Given the description of an element on the screen output the (x, y) to click on. 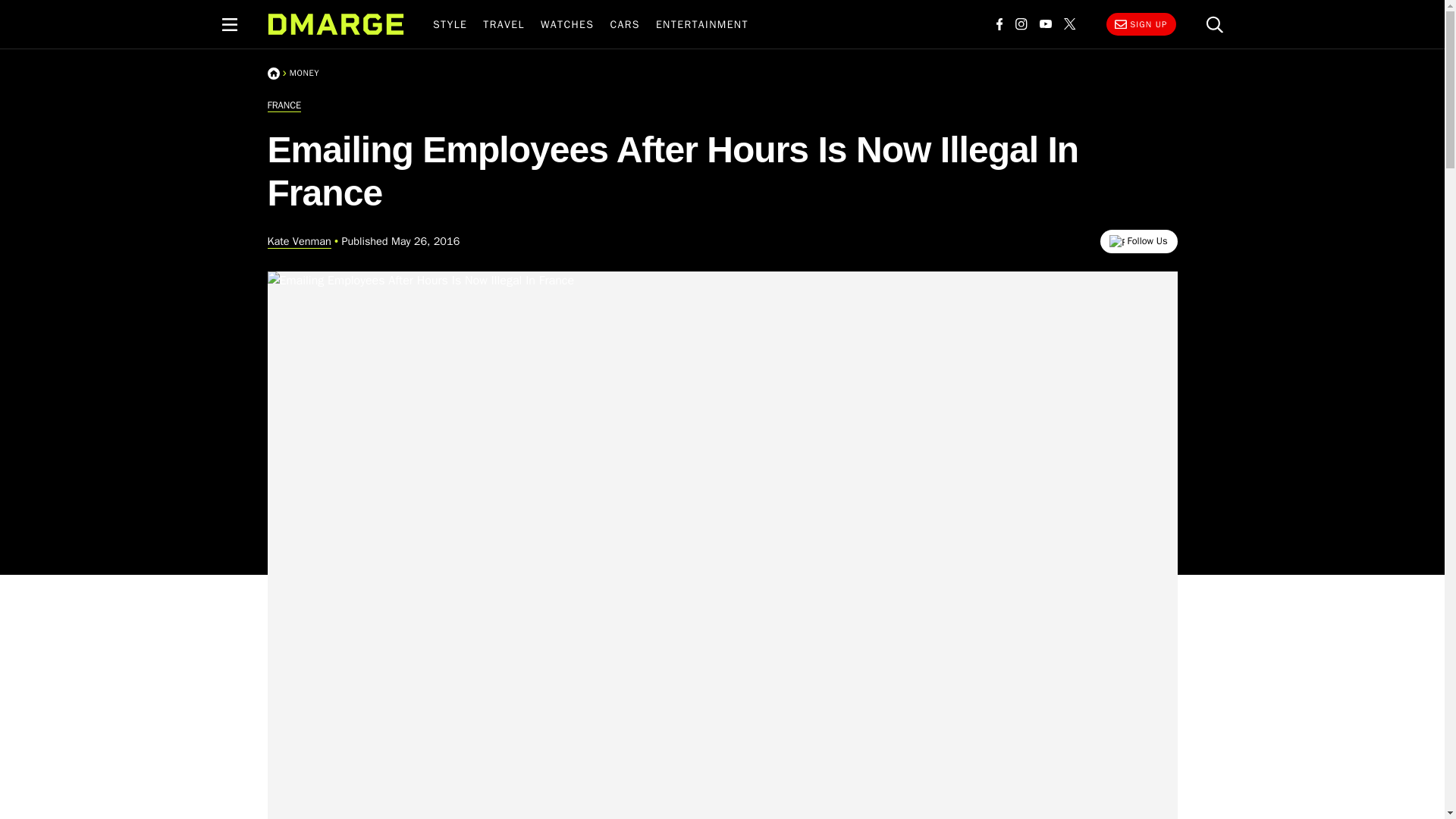
STYLE (449, 24)
Visit us on Instagram (1020, 24)
WATCHES (567, 24)
TRAVEL (504, 24)
SIGN UP (1139, 24)
Visit us on YouTube (1044, 23)
CARS (624, 24)
Visit us on Twitter (1069, 24)
Posts by Kate Venman (298, 241)
Newsletter Signup (1139, 24)
